Given the description of an element on the screen output the (x, y) to click on. 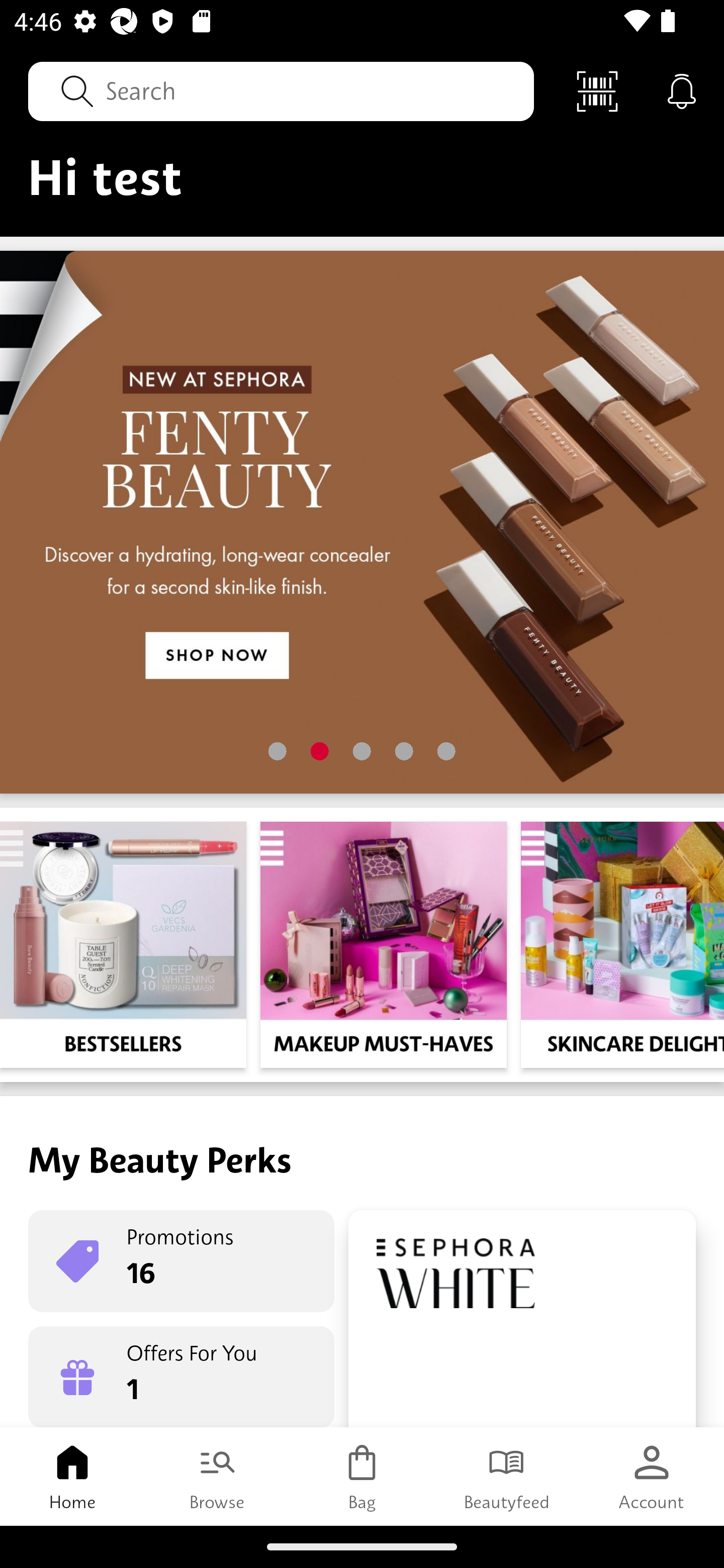
Scan Code (597, 90)
Notifications (681, 90)
Search (281, 90)
Promotions 16 (181, 1261)
Rewards Boutique 90 Pts (521, 1318)
Offers For You 1 (181, 1376)
Browse (216, 1475)
Bag (361, 1475)
Beautyfeed (506, 1475)
Account (651, 1475)
